Given the description of an element on the screen output the (x, y) to click on. 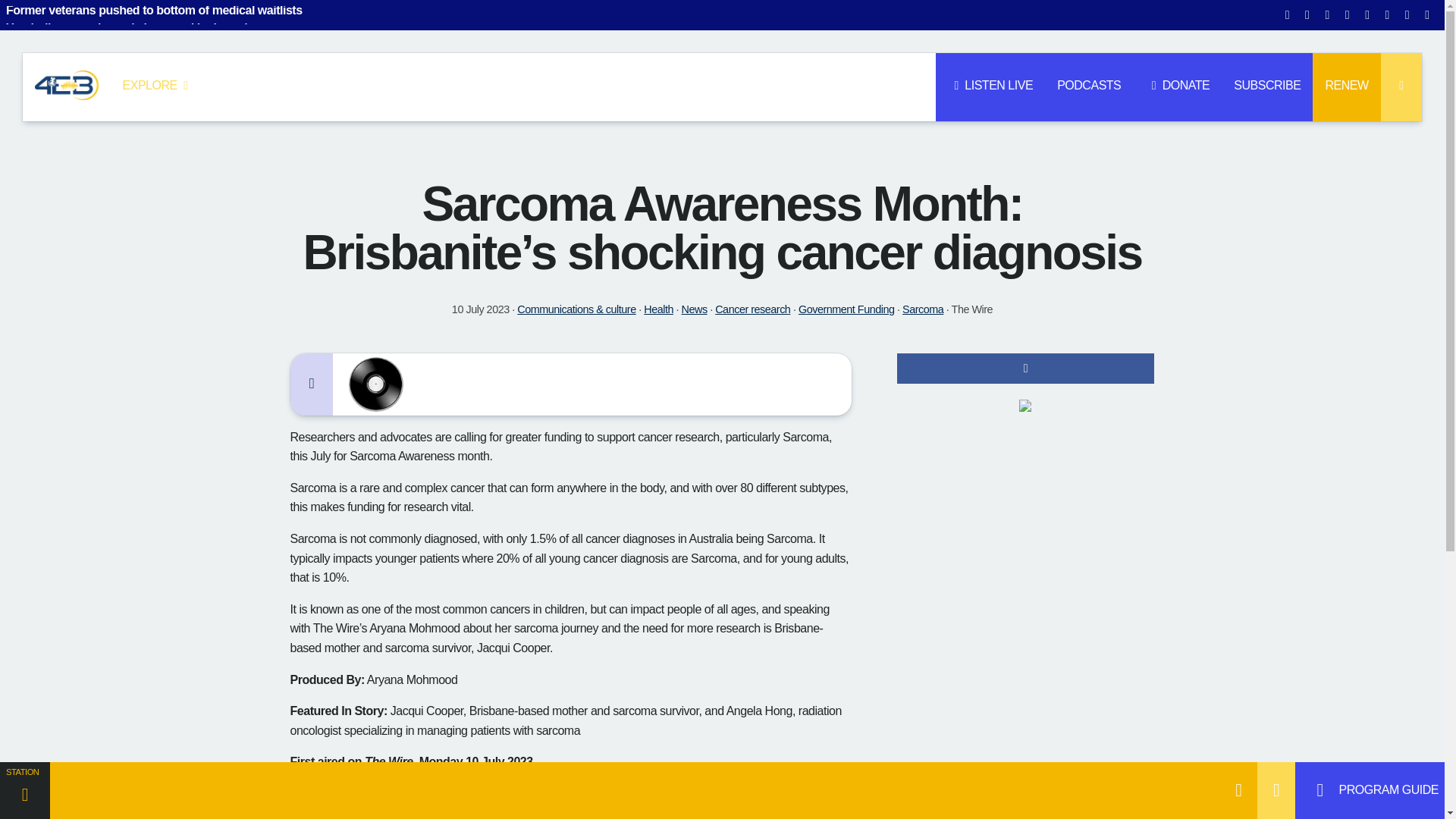
DONATE (1176, 87)
LISTEN LIVE (990, 87)
EXPLORE (158, 87)
Former veterans pushed to bottom of medical waitlists (195, 14)
SUBSCRIBE (1267, 87)
PODCASTS (1088, 87)
RENEW (1346, 87)
